Given the description of an element on the screen output the (x, y) to click on. 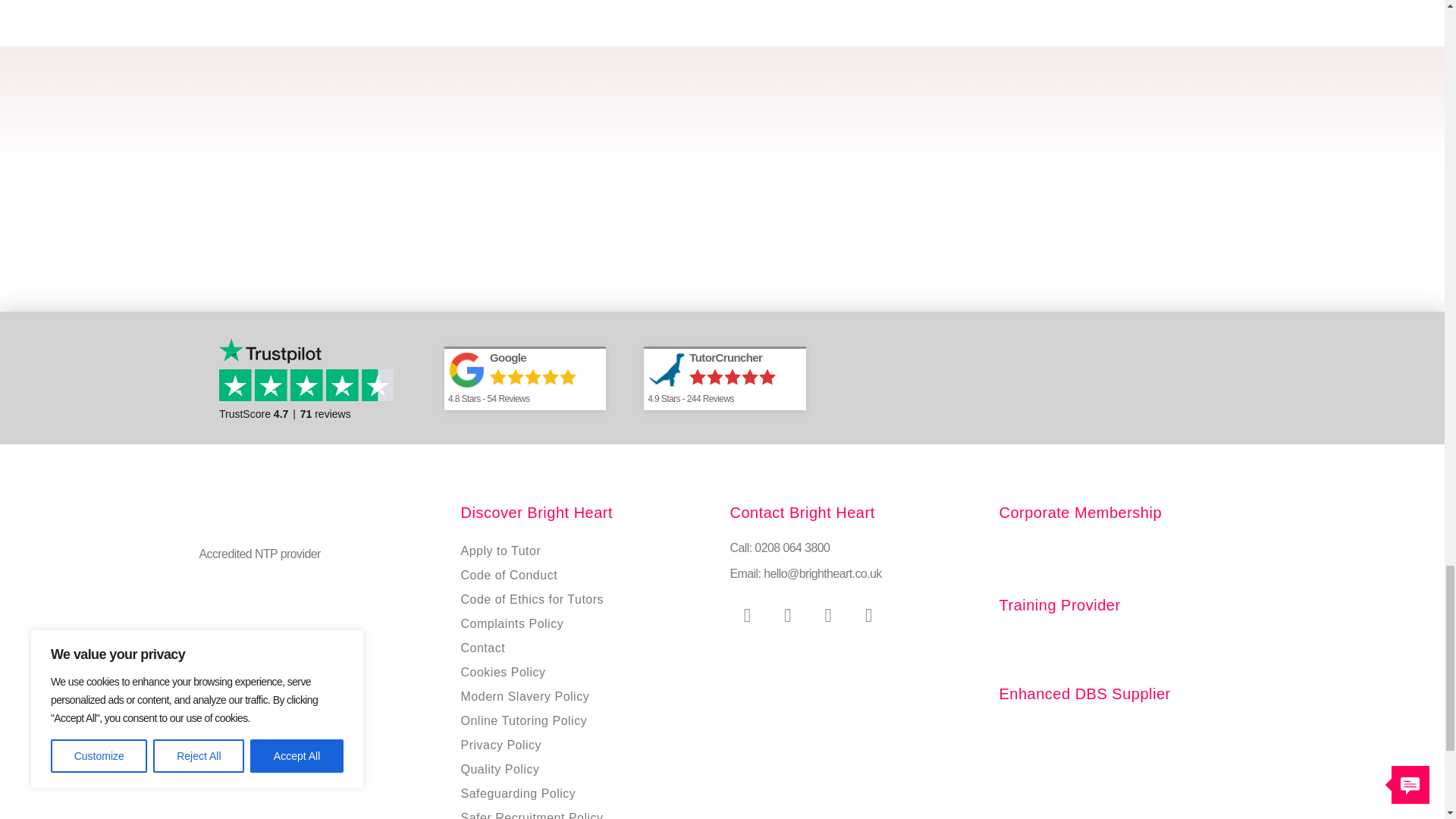
Customer reviews powered by Trustpilot (312, 378)
